Given the description of an element on the screen output the (x, y) to click on. 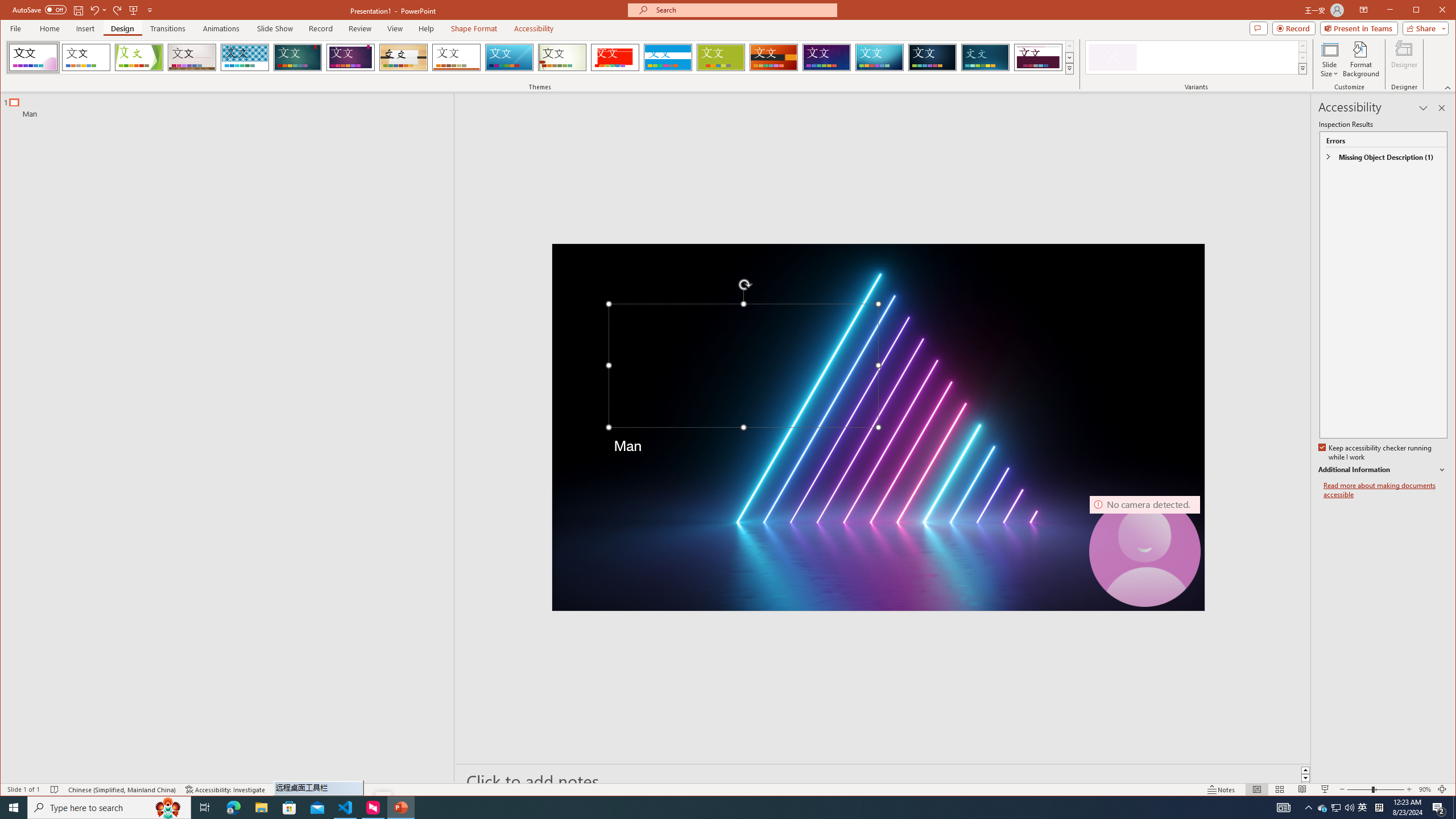
Berlin (773, 57)
Depth (985, 57)
Atlas (615, 57)
